Given the description of an element on the screen output the (x, y) to click on. 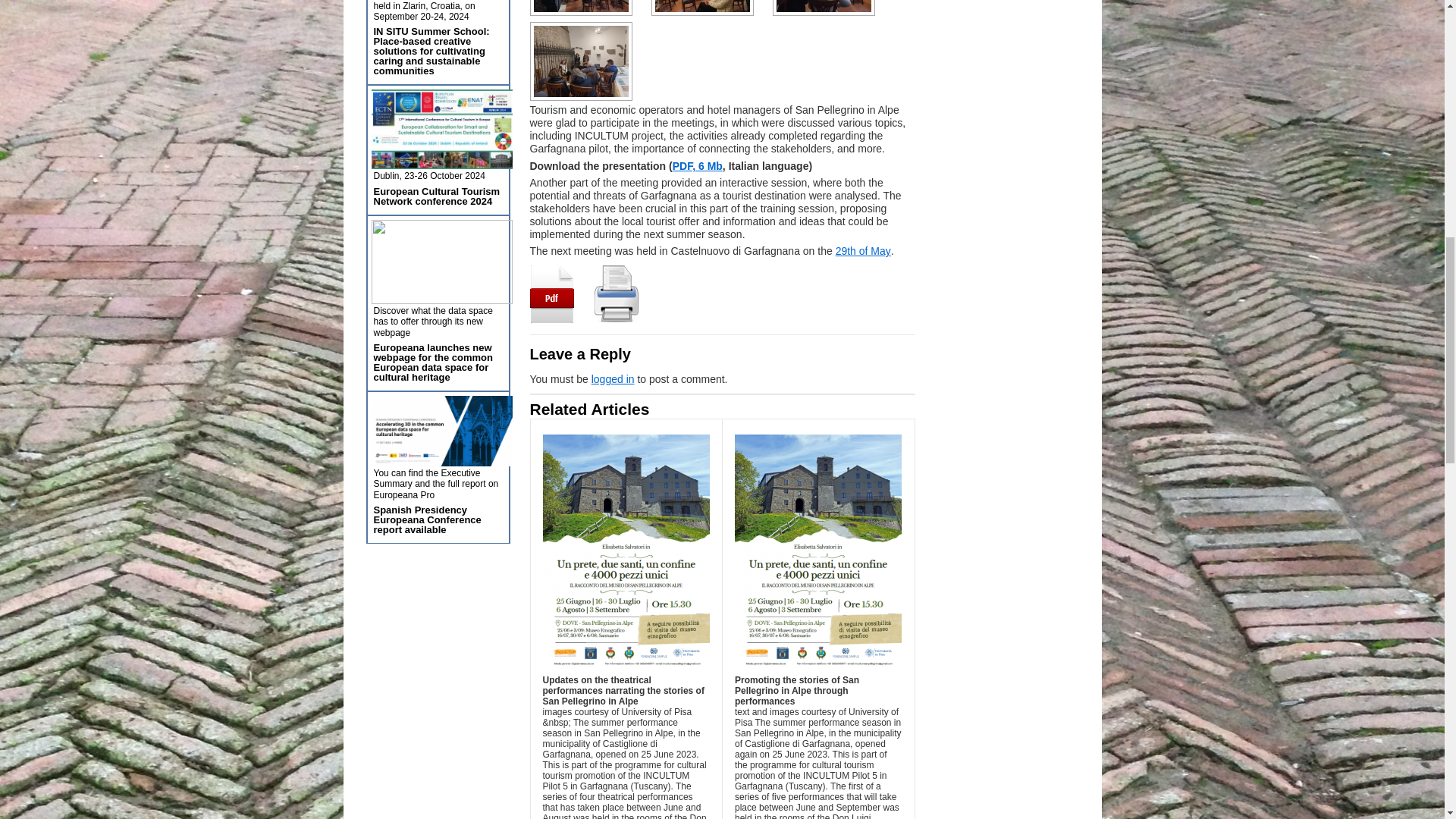
29th of May (863, 250)
5 (823, 7)
logged in (612, 378)
European Cultural Tourism Network conference 2024 (435, 196)
PDF, 6 Mb (697, 165)
4 (701, 7)
2 (580, 7)
6 (580, 61)
Spanish Presidency Europeana Conference report available (426, 519)
